Given the description of an element on the screen output the (x, y) to click on. 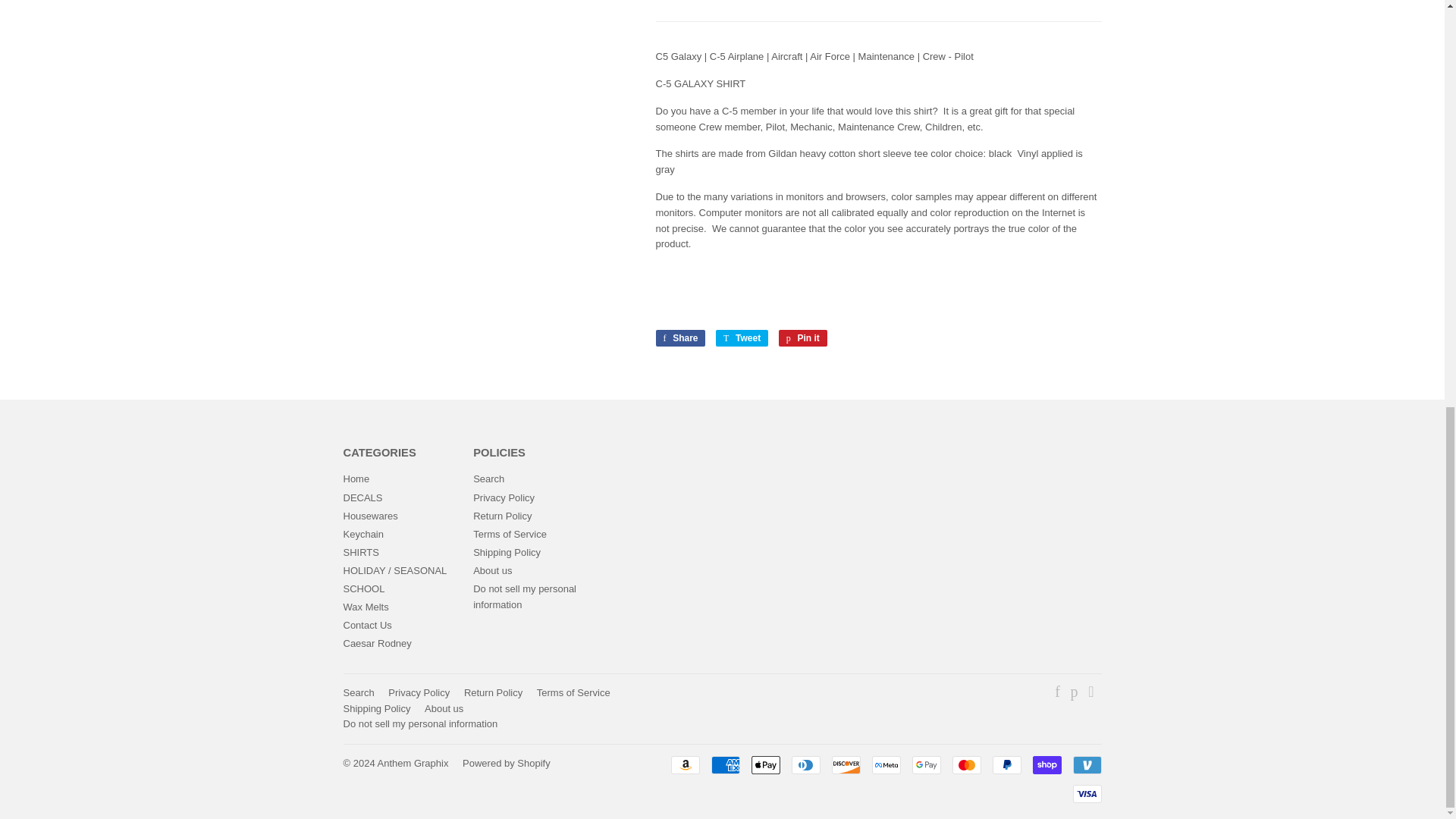
Google Pay (925, 764)
Pin on Pinterest (802, 338)
Venmo (1085, 764)
Share on Facebook (679, 338)
Meta Pay (886, 764)
Apple Pay (764, 764)
Tweet on Twitter (742, 338)
Mastercard (966, 764)
PayPal (1005, 764)
Amazon (683, 764)
